Given the description of an element on the screen output the (x, y) to click on. 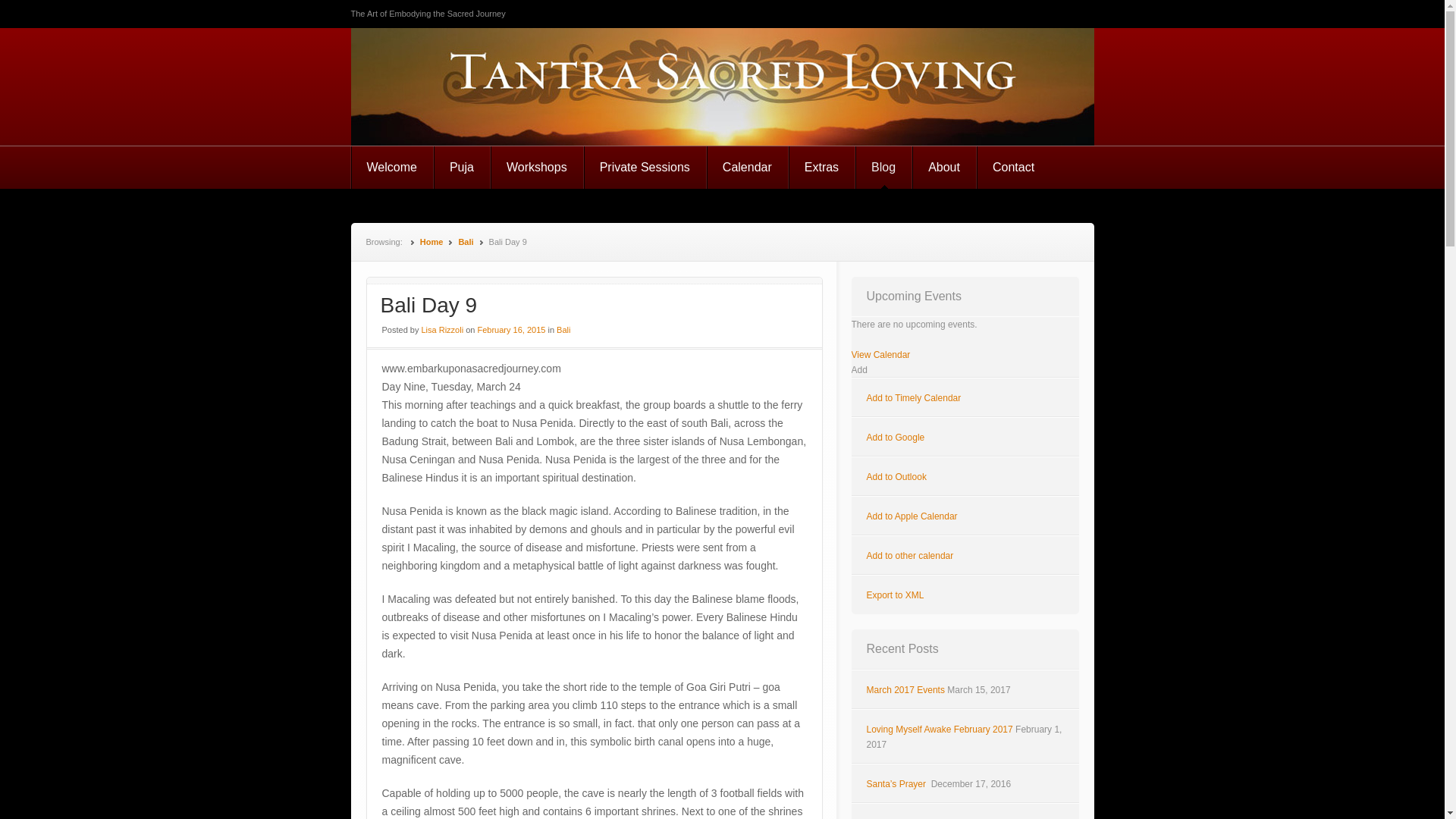
View all posts by Lisa Rizzoli (443, 329)
Contact (1013, 167)
Lisa Rizzoli (443, 329)
About (944, 167)
Extras (822, 167)
Add to Outlook (896, 476)
Workshops (536, 167)
9:11 pm (511, 329)
February 16, 2015 (511, 329)
Tantra Sacred Loving (507, 85)
Bali (563, 329)
Add to Timely Calendar (913, 398)
Subscribe to this calendar in another plain-text calendar (909, 555)
Add to Apple Calendar (911, 516)
Home (432, 241)
